Given the description of an element on the screen output the (x, y) to click on. 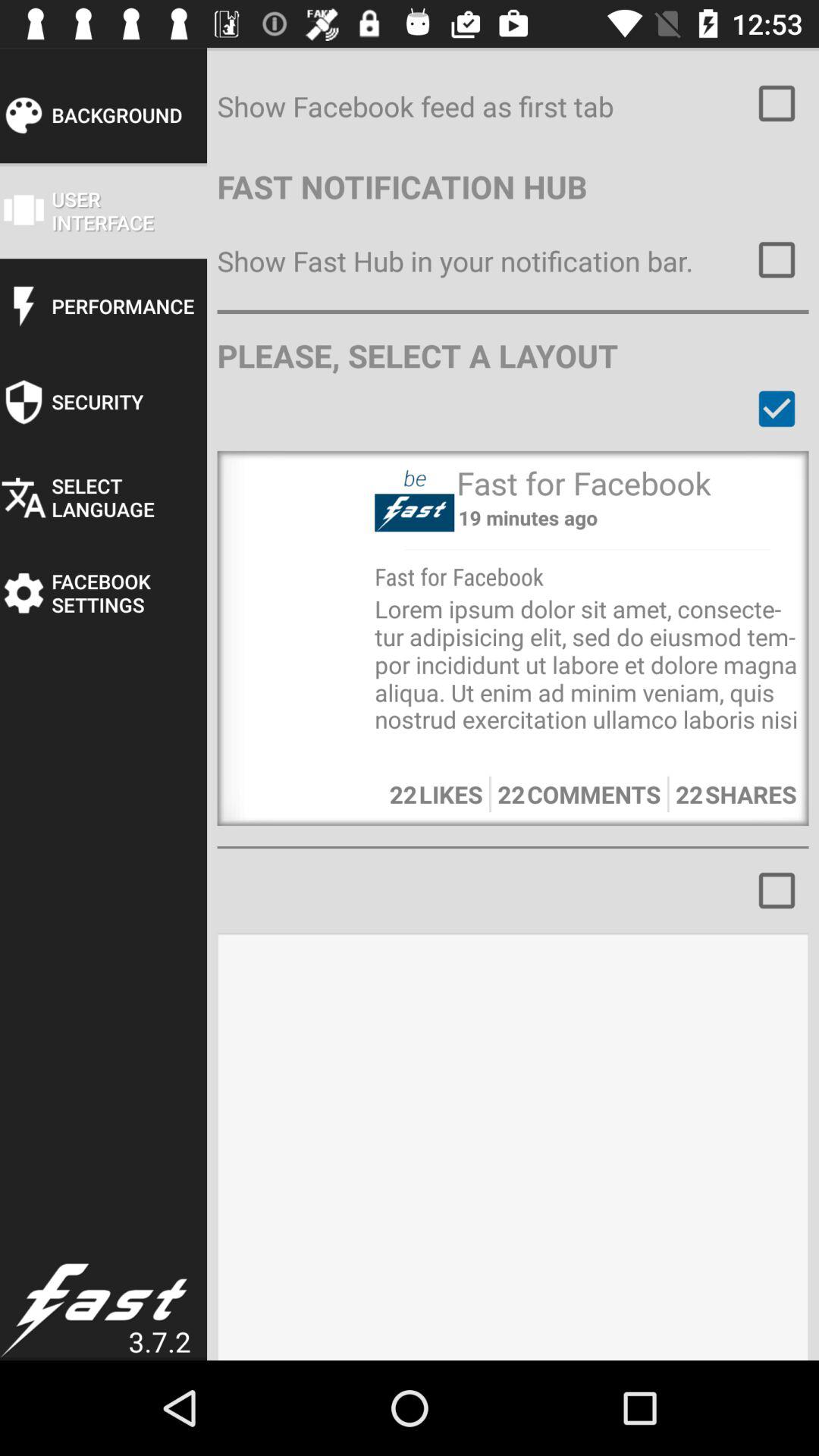
click on checkbox which is on right side of show fast hub in your notification bar (777, 260)
